Given the description of an element on the screen output the (x, y) to click on. 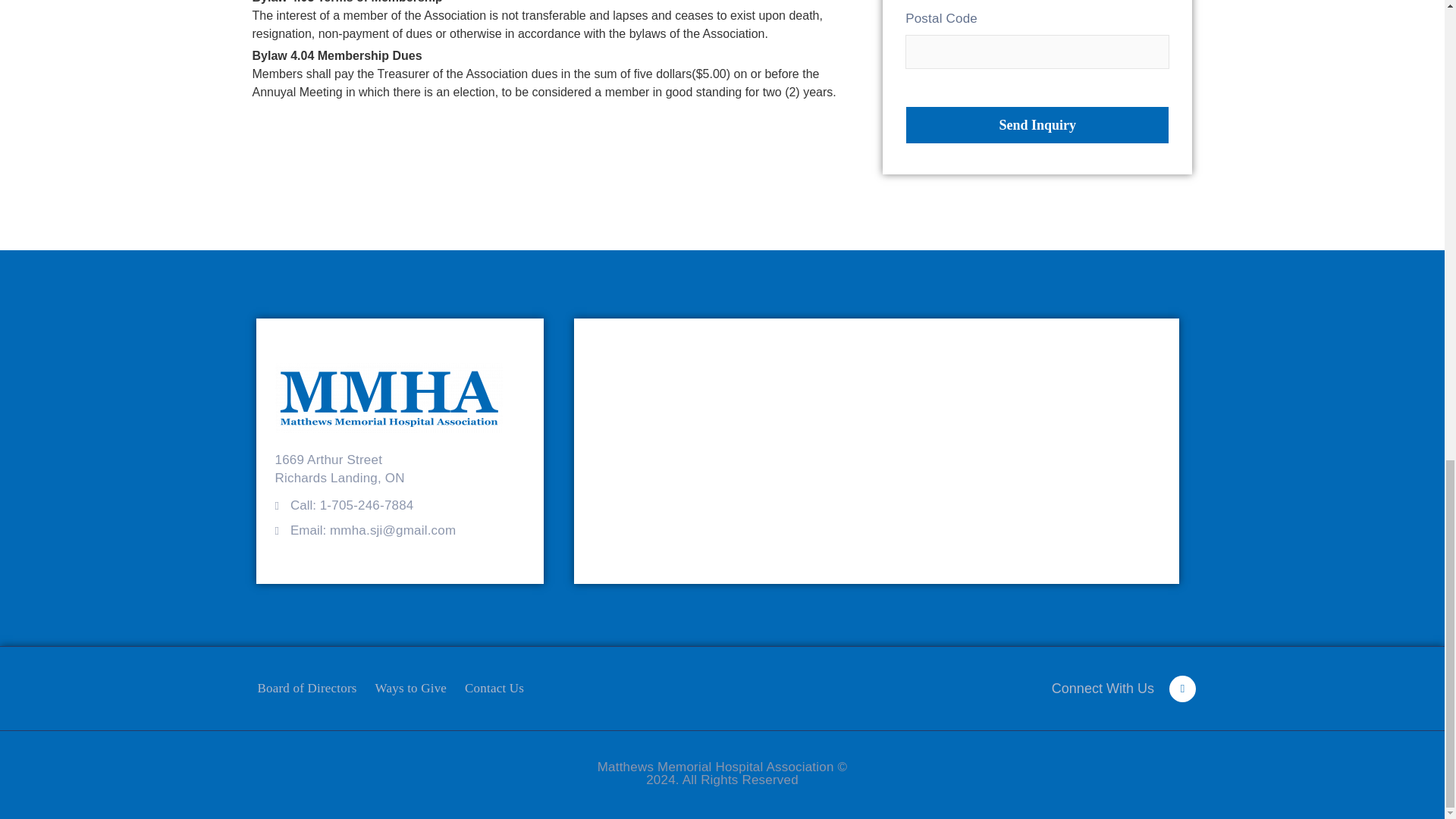
Board of Directors (307, 687)
Ways to Give (411, 687)
Send Inquiry (1037, 125)
Contact Us (493, 687)
1180 Richards St, Richards Landing, ON P0R 1J0 (876, 451)
Call: 1-705-246-7884 (351, 504)
Send Inquiry (1037, 125)
